Given the description of an element on the screen output the (x, y) to click on. 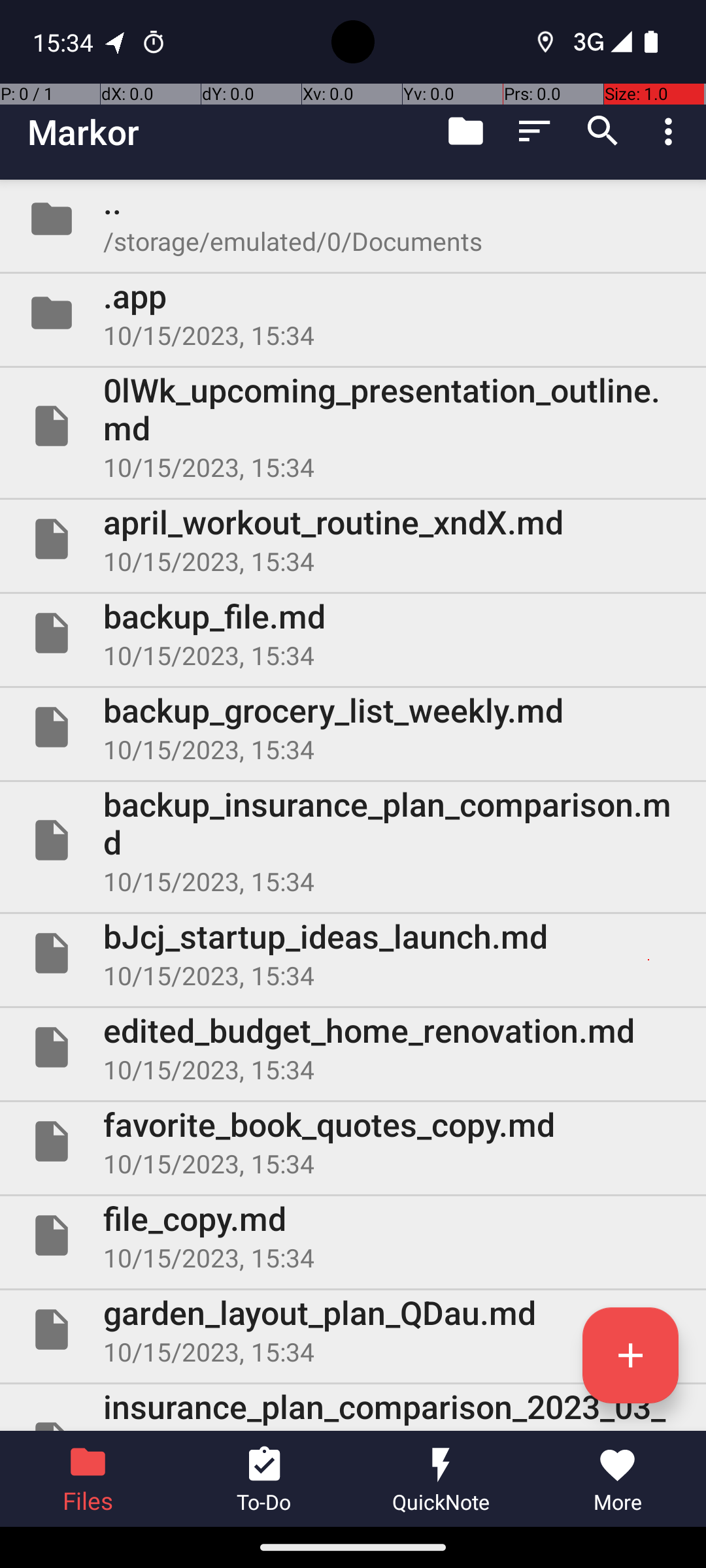
Folder .app  Element type: android.widget.LinearLayout (353, 312)
File 0lWk_upcoming_presentation_outline.md  Element type: android.widget.LinearLayout (353, 425)
File april_workout_routine_xndX.md  Element type: android.widget.LinearLayout (353, 538)
File backup_file.md  Element type: android.widget.LinearLayout (353, 632)
File backup_grocery_list_weekly.md  Element type: android.widget.LinearLayout (353, 726)
File backup_insurance_plan_comparison.md  Element type: android.widget.LinearLayout (353, 840)
File bJcj_startup_ideas_launch.md  Element type: android.widget.LinearLayout (353, 953)
File edited_budget_home_renovation.md  Element type: android.widget.LinearLayout (353, 1047)
File favorite_book_quotes_copy.md  Element type: android.widget.LinearLayout (353, 1141)
File file_copy.md  Element type: android.widget.LinearLayout (353, 1235)
File garden_layout_plan_QDau.md  Element type: android.widget.LinearLayout (353, 1329)
File insurance_plan_comparison_2023_03_26.md  Element type: android.widget.LinearLayout (353, 1407)
